Given the description of an element on the screen output the (x, y) to click on. 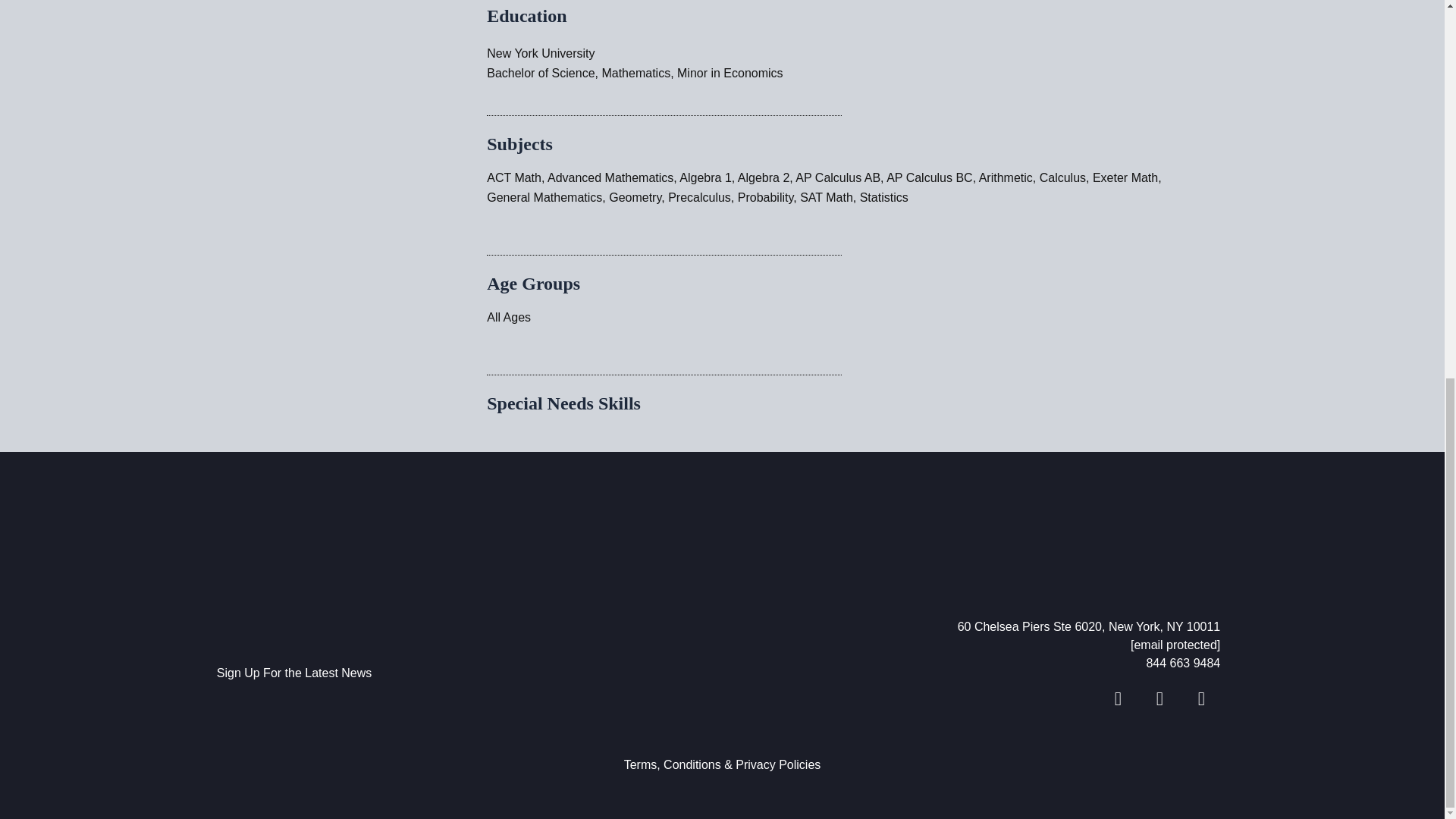
844 663 9484 (974, 663)
Instagram (1201, 698)
ACT Math (513, 177)
Geometry (634, 196)
All Ages (508, 317)
Linkedin (1158, 698)
60 Chelsea Piers Ste 6020, New York, NY 10011 (974, 627)
Arithmetic (1005, 177)
Precalculus (699, 196)
Exeter Math (1125, 177)
